Given the description of an element on the screen output the (x, y) to click on. 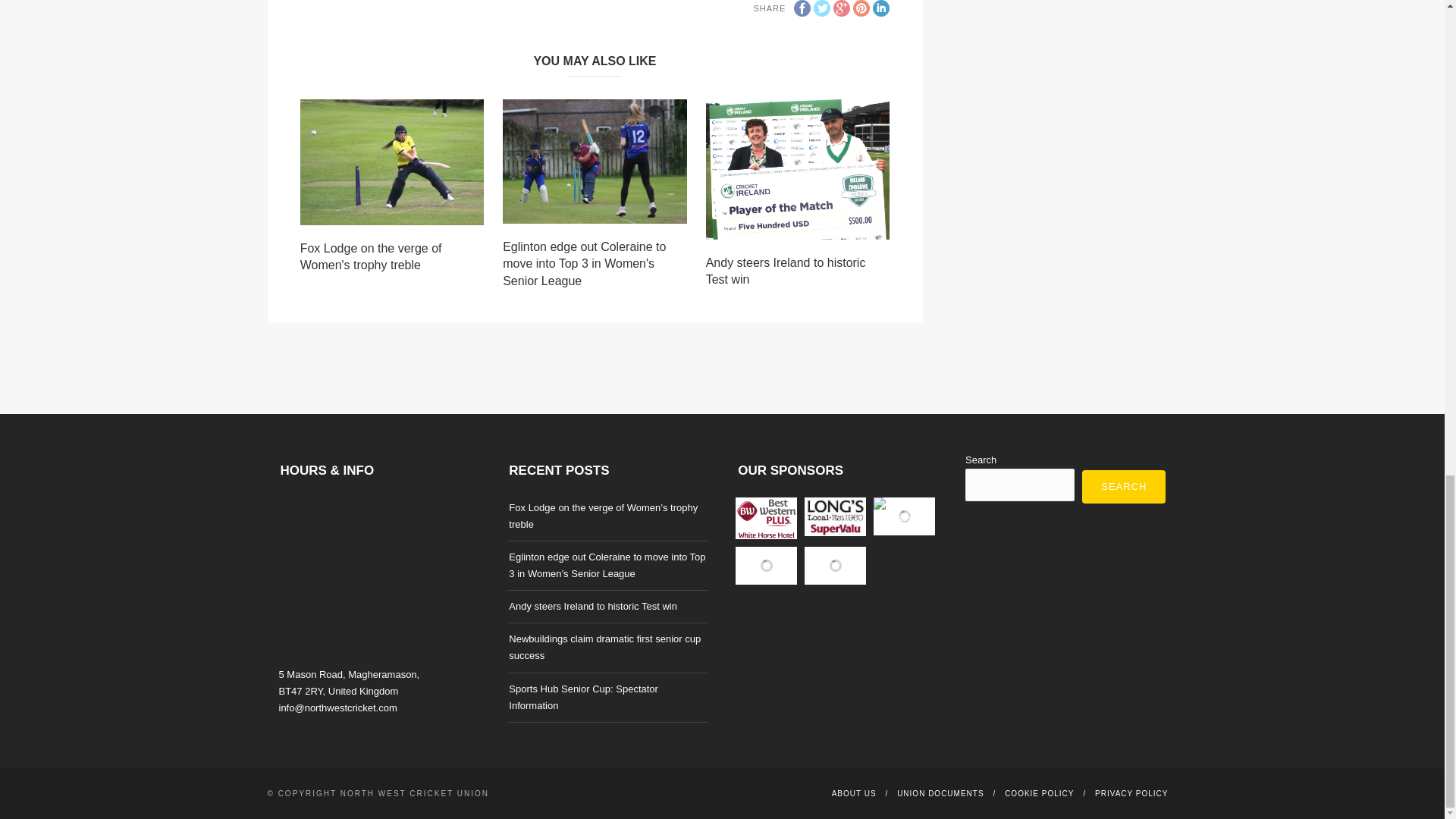
Facebook (801, 8)
LinkedIn (880, 8)
Google Maps Embed (379, 578)
Twitter (821, 8)
Pinterest (861, 8)
